Given the description of an element on the screen output the (x, y) to click on. 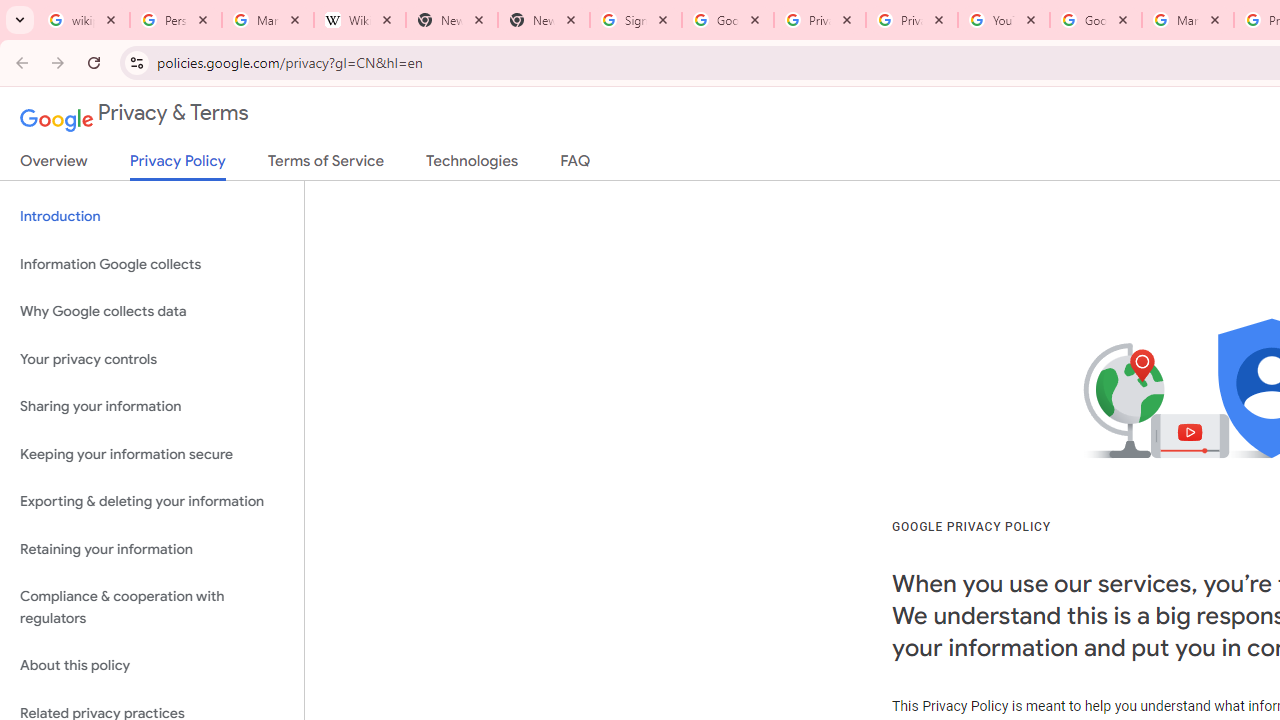
Manage your Location History - Google Search Help (267, 20)
Personalization & Google Search results - Google Search Help (175, 20)
New Tab (543, 20)
